Given the description of an element on the screen output the (x, y) to click on. 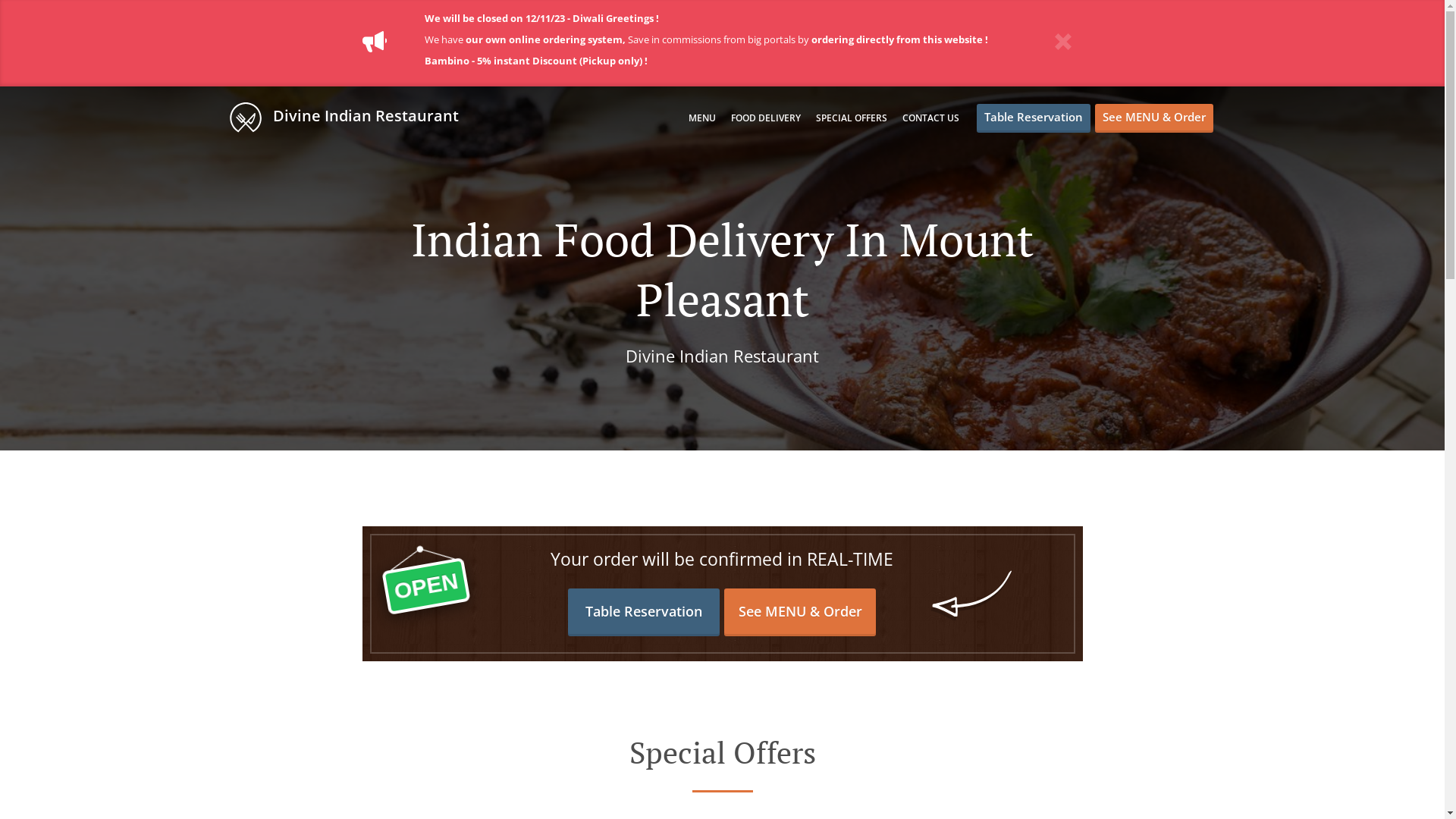
MENU Element type: text (701, 117)
CONTACT US Element type: text (930, 117)
SPECIAL OFFERS Element type: text (851, 117)
 Divine Indian Restaurant Element type: text (351, 116)
FOOD DELIVERY Element type: text (765, 117)
